Given the description of an element on the screen output the (x, y) to click on. 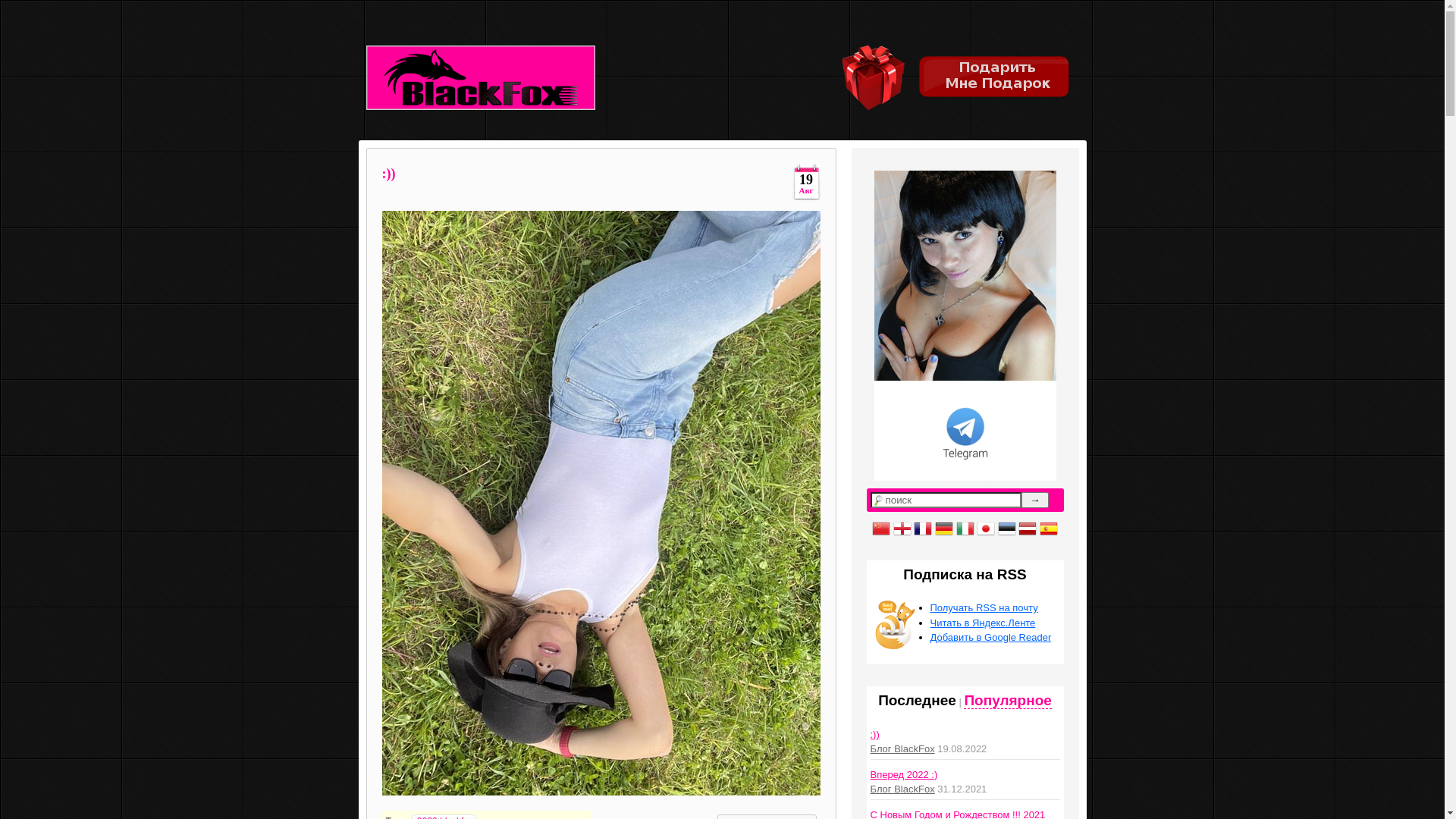
Translate content to Estonian Element type: hover (1006, 527)
Translate content to English Element type: hover (902, 527)
Translate content to Japanese Element type: hover (985, 527)
:)) Element type: text (874, 733)
Translate content to Chinese Tradational Element type: hover (881, 527)
Translate content to Latvian Element type: hover (1027, 527)
Translate content to Italian Element type: hover (964, 527)
Translate content to Spanish Element type: hover (1048, 527)
Translate content to German Element type: hover (944, 527)
Translate content to French Element type: hover (922, 527)
:)) Element type: text (388, 171)
